Given the description of an element on the screen output the (x, y) to click on. 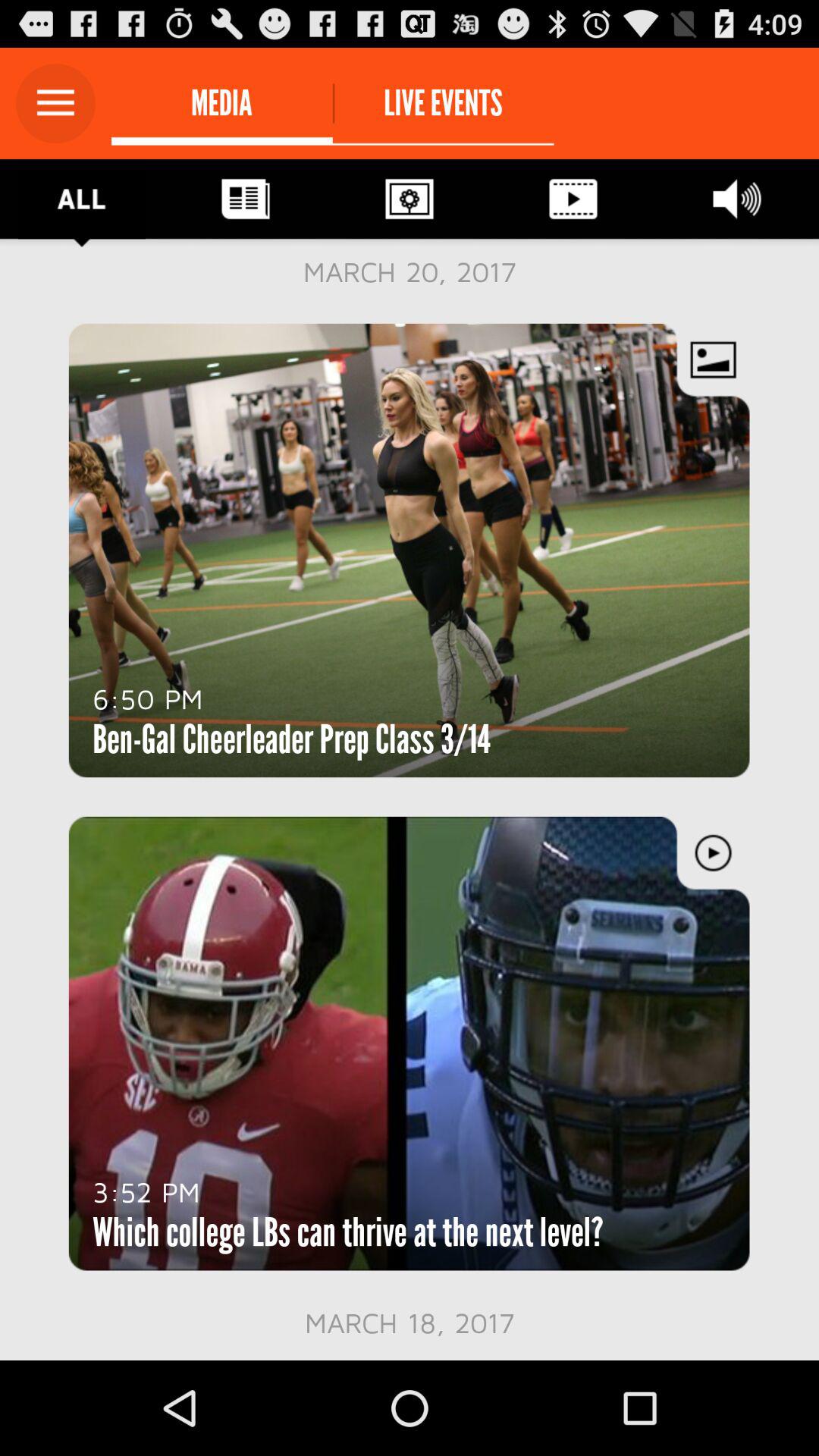
choose the item above march 18, 2017 (347, 1232)
